Given the description of an element on the screen output the (x, y) to click on. 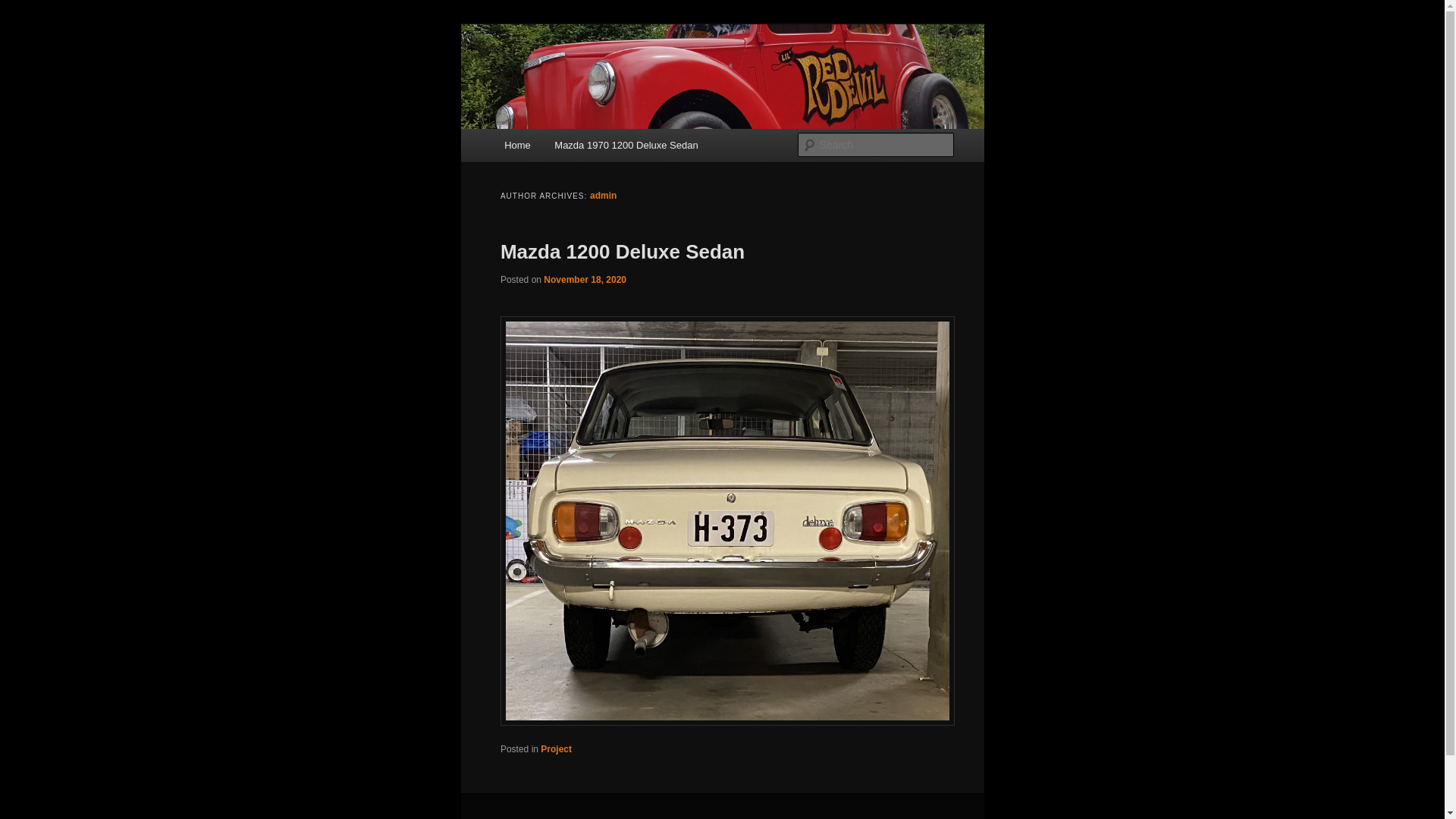
Project Element type: text (555, 748)
Home Element type: text (517, 144)
admin Element type: text (602, 195)
Mazda 1200 Deluxe Sedan Element type: text (622, 251)
2050x.com Element type: text (558, 78)
Mazda 1970 1200 Deluxe Sedan Element type: text (626, 144)
Search Element type: text (24, 8)
November 18, 2020 Element type: text (584, 279)
Skip to primary content Element type: text (22, 22)
